Given the description of an element on the screen output the (x, y) to click on. 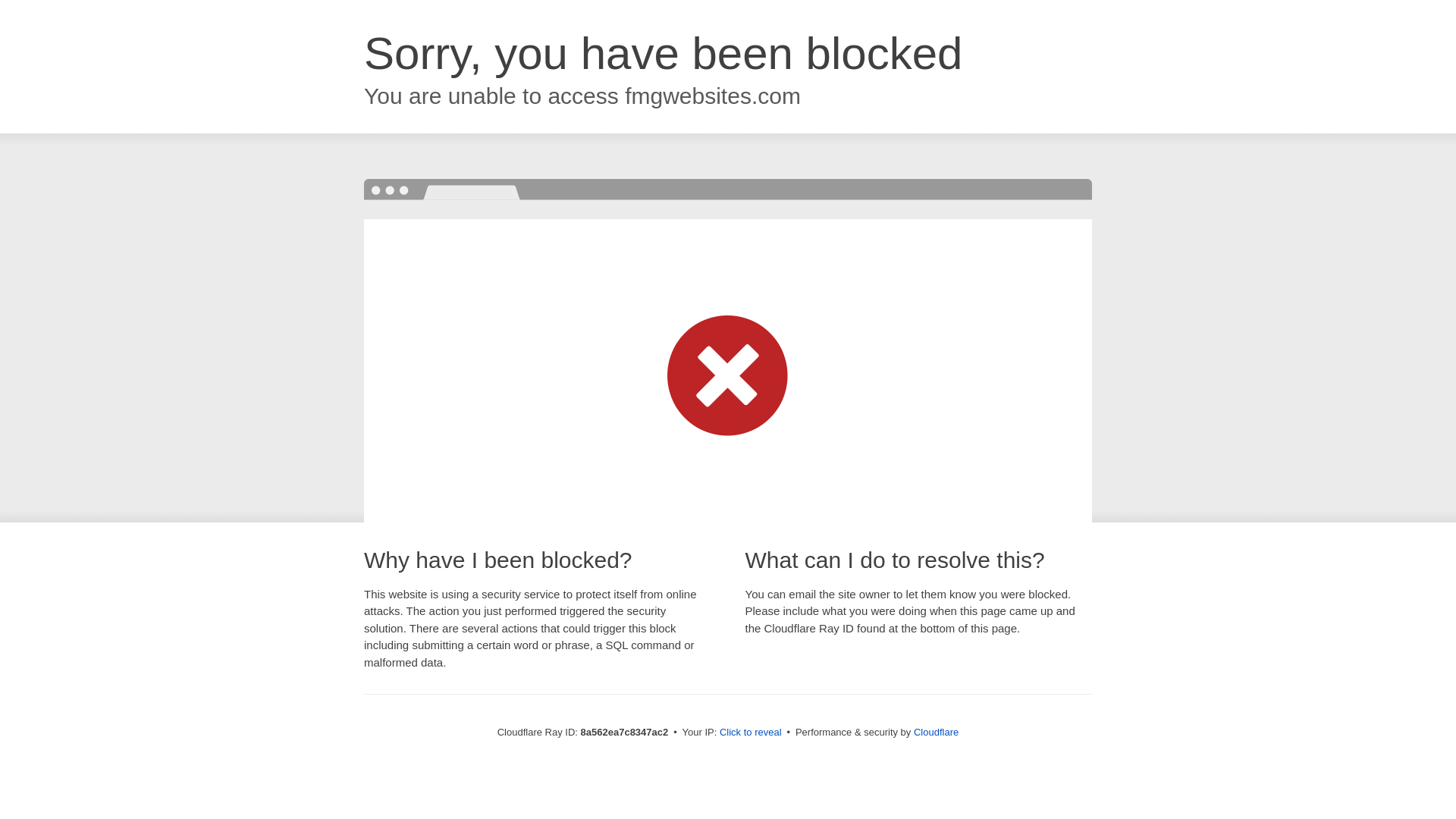
Cloudflare (936, 731)
Click to reveal (750, 732)
